Given the description of an element on the screen output the (x, y) to click on. 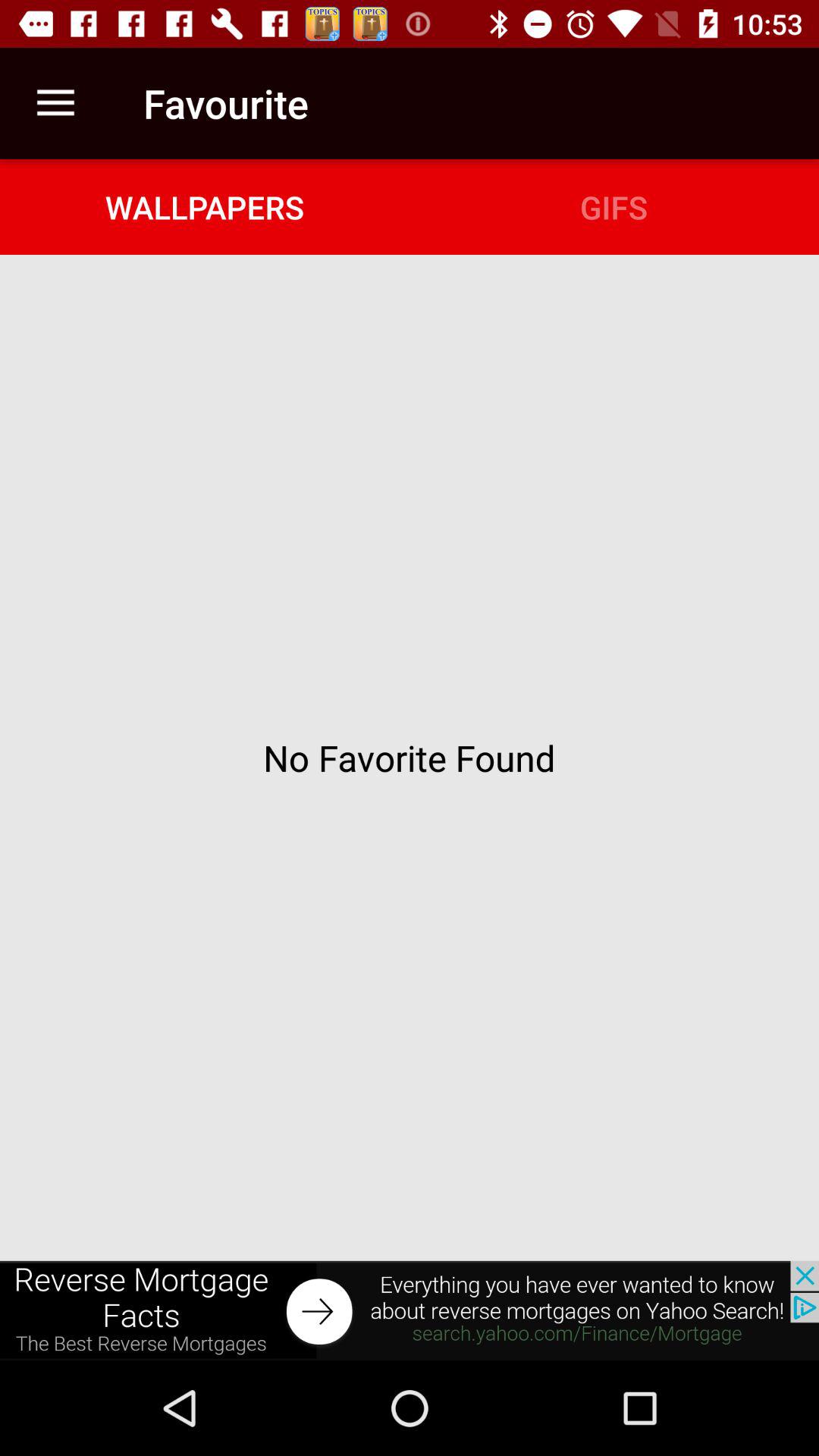
advertisement banner (409, 1310)
